Given the description of an element on the screen output the (x, y) to click on. 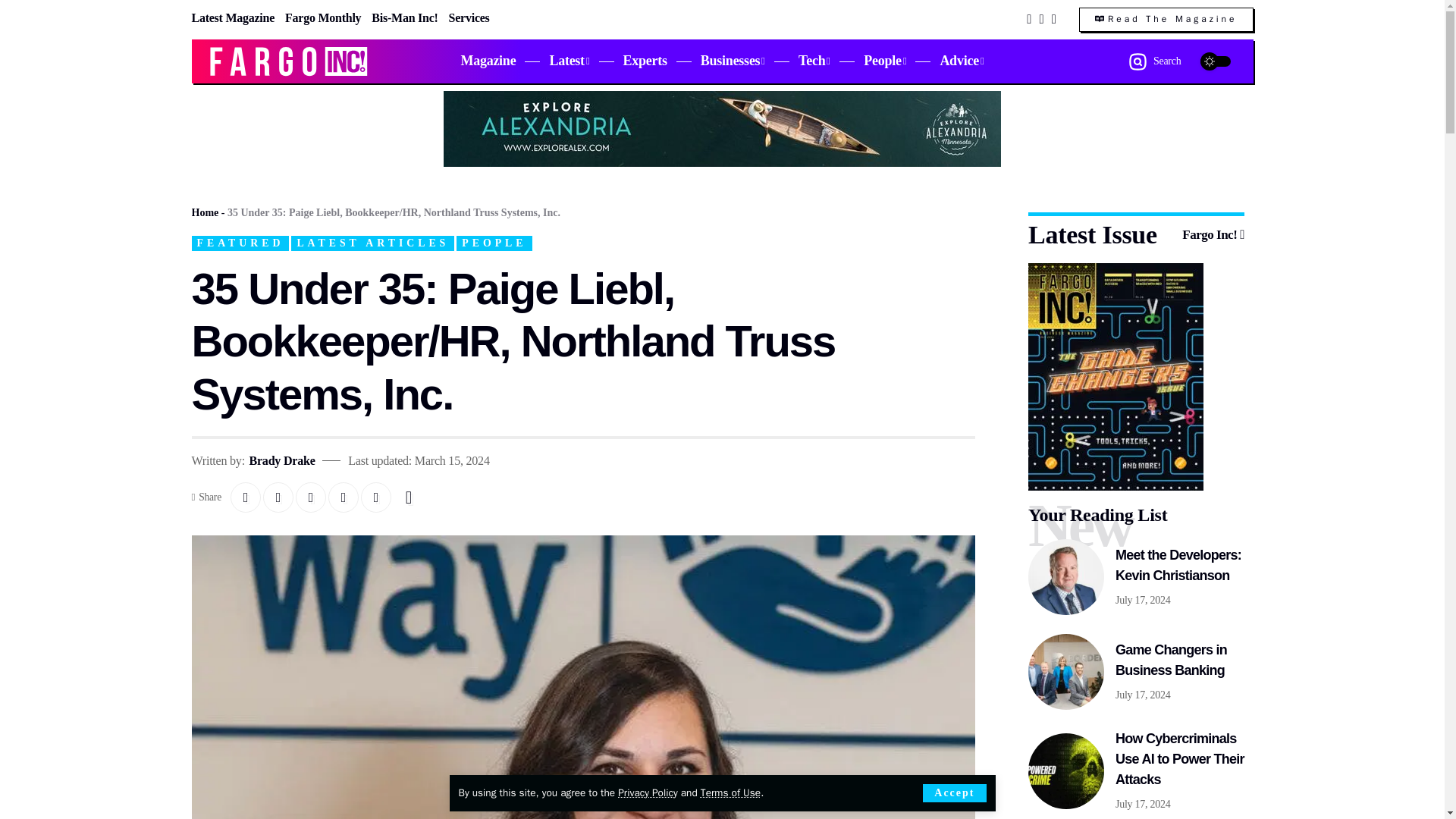
Read The Magazine (1165, 19)
Latest (569, 61)
Terms of Use (730, 792)
Experts (645, 61)
Privacy Policy (647, 792)
Businesses (732, 61)
Tech (814, 61)
Magazine (487, 61)
Services (468, 17)
Accept (954, 792)
Latest Magazine (232, 17)
Fargo Monthly (323, 17)
Bis-Man Inc! (404, 17)
